Given the description of an element on the screen output the (x, y) to click on. 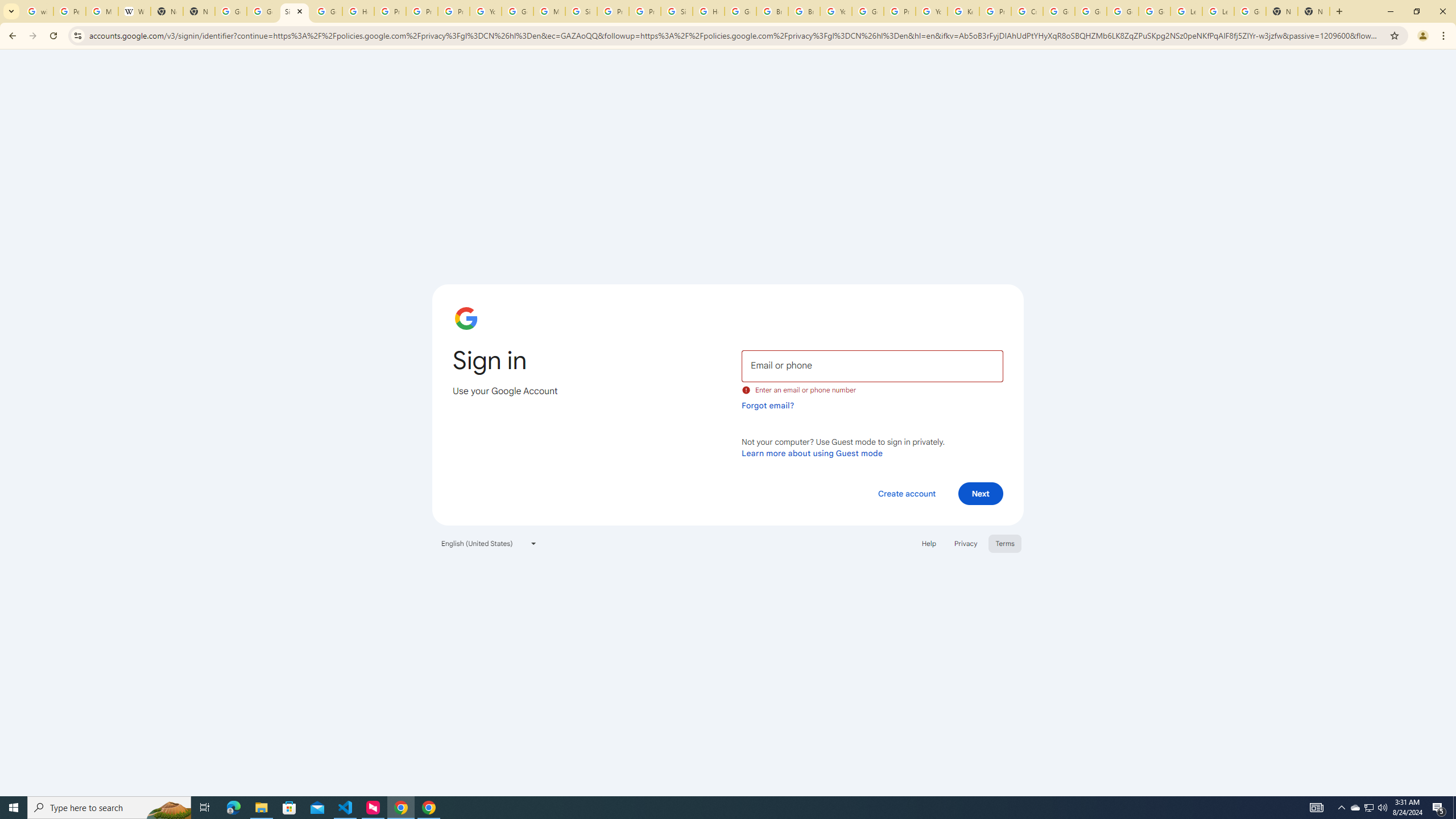
Sign in - Google Accounts (581, 11)
Help (928, 542)
Forgot email? (767, 404)
Manage your Location History - Google Search Help (101, 11)
Google Account Help (868, 11)
Personalization & Google Search results - Google Search Help (69, 11)
Terms (1005, 542)
